Given the description of an element on the screen output the (x, y) to click on. 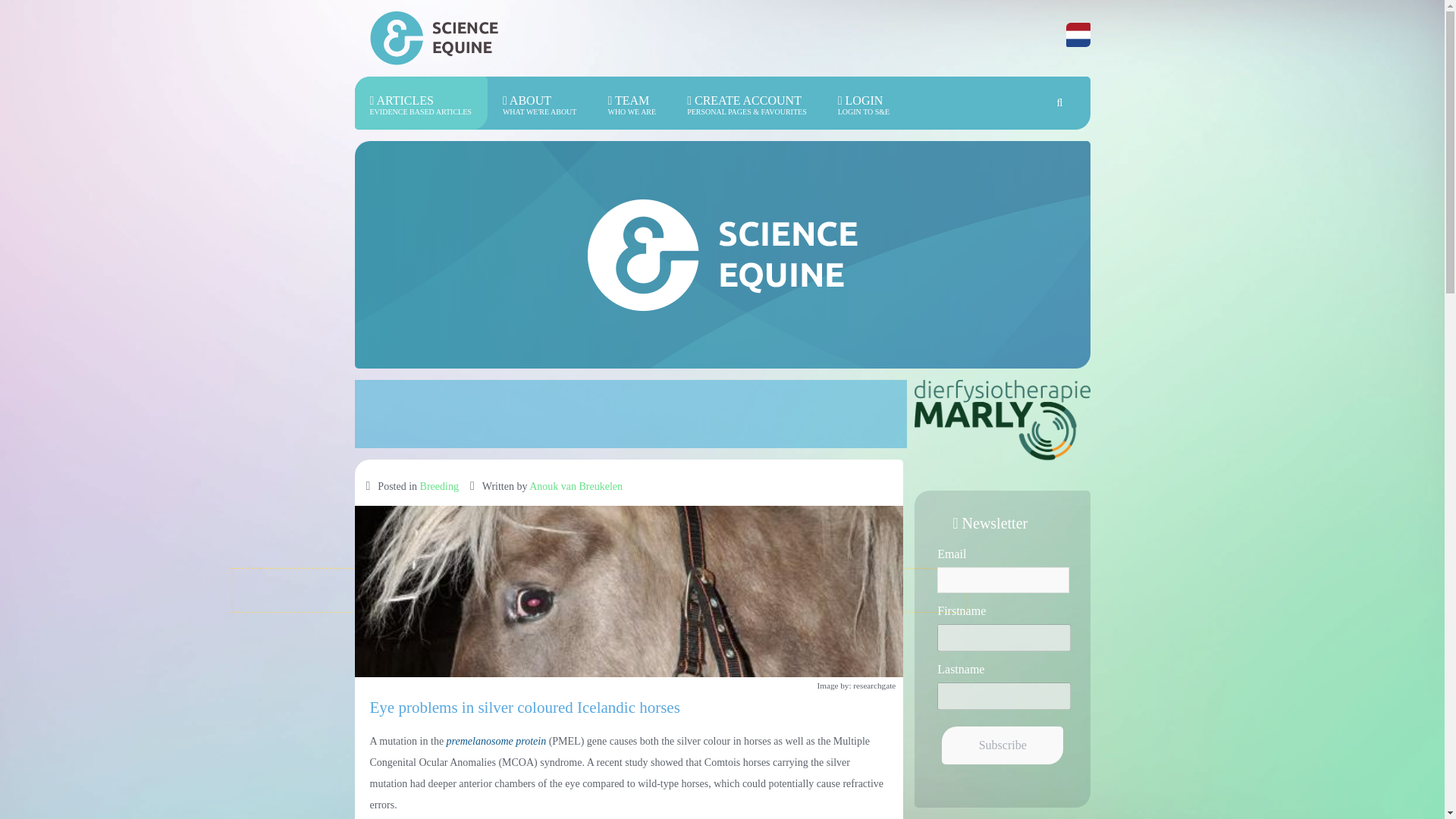
Subscribe (1002, 745)
View all articles from Anouk van Breukelen (576, 486)
Advertisement (421, 102)
